Given the description of an element on the screen output the (x, y) to click on. 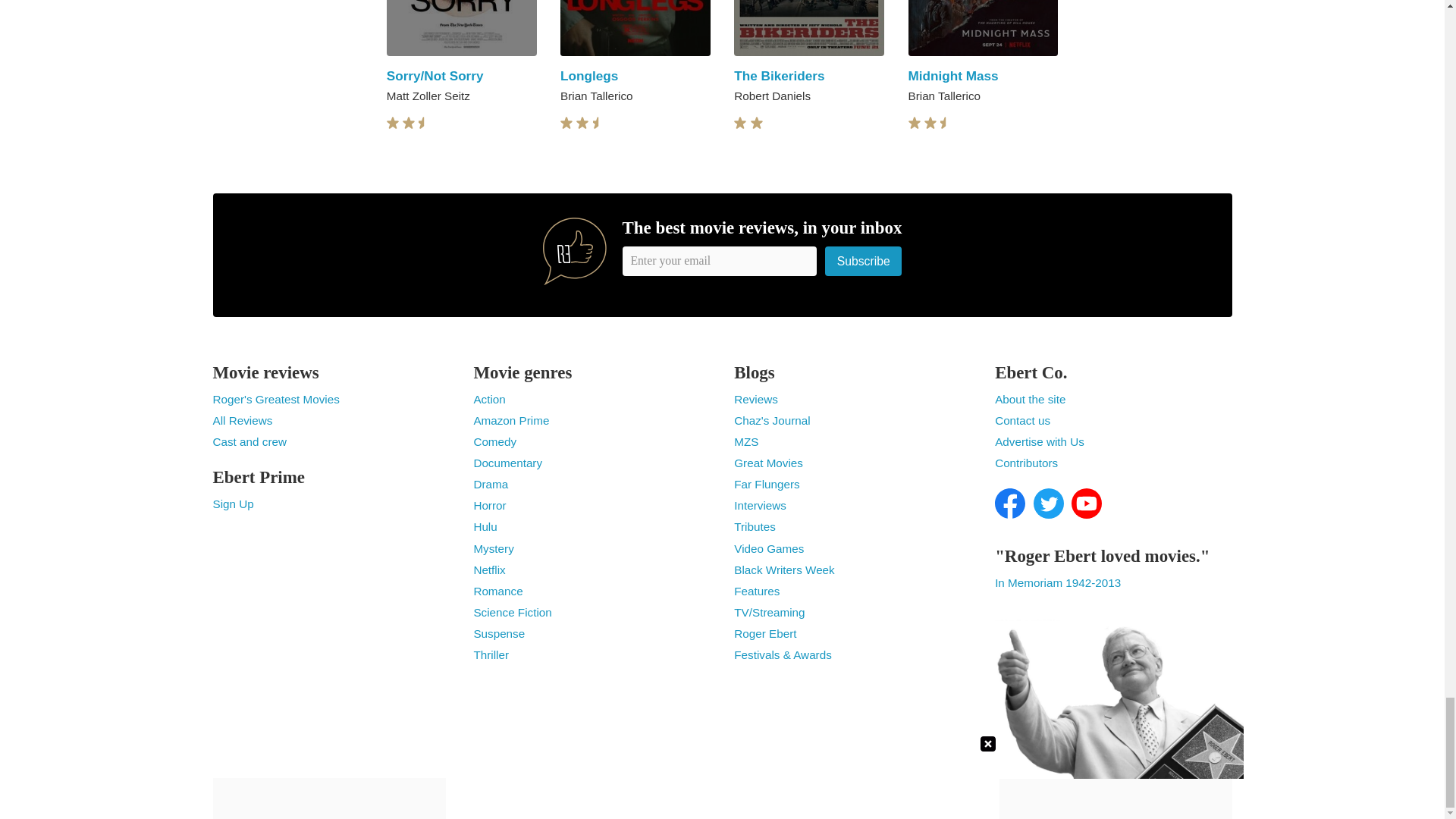
Subscribe (863, 261)
